Given the description of an element on the screen output the (x, y) to click on. 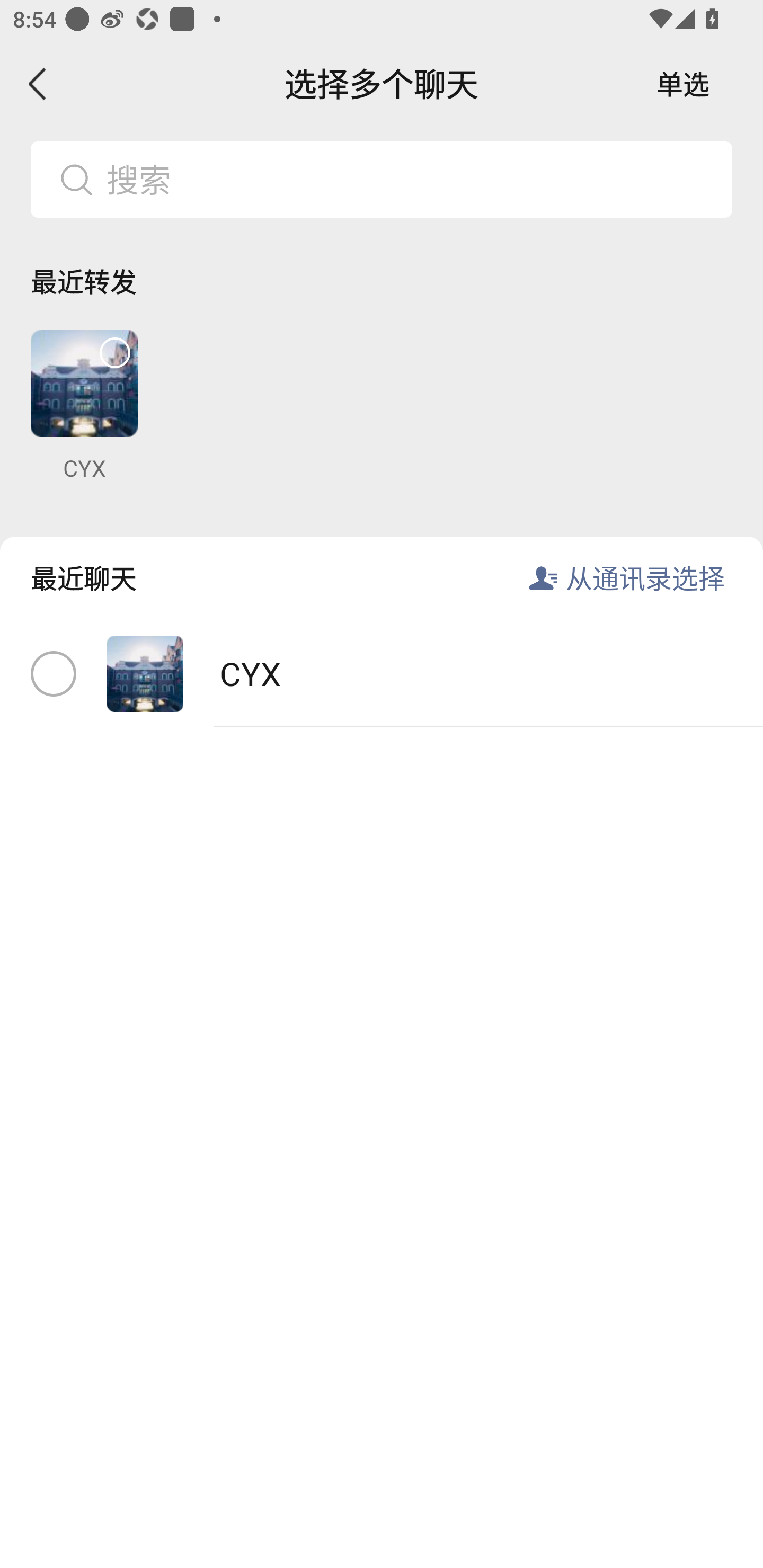
返回 (38, 83)
单选 (683, 83)
搜索 (411, 179)
CYX (84, 405)
从通讯录选择 (645, 577)
CYX (381, 673)
